Given the description of an element on the screen output the (x, y) to click on. 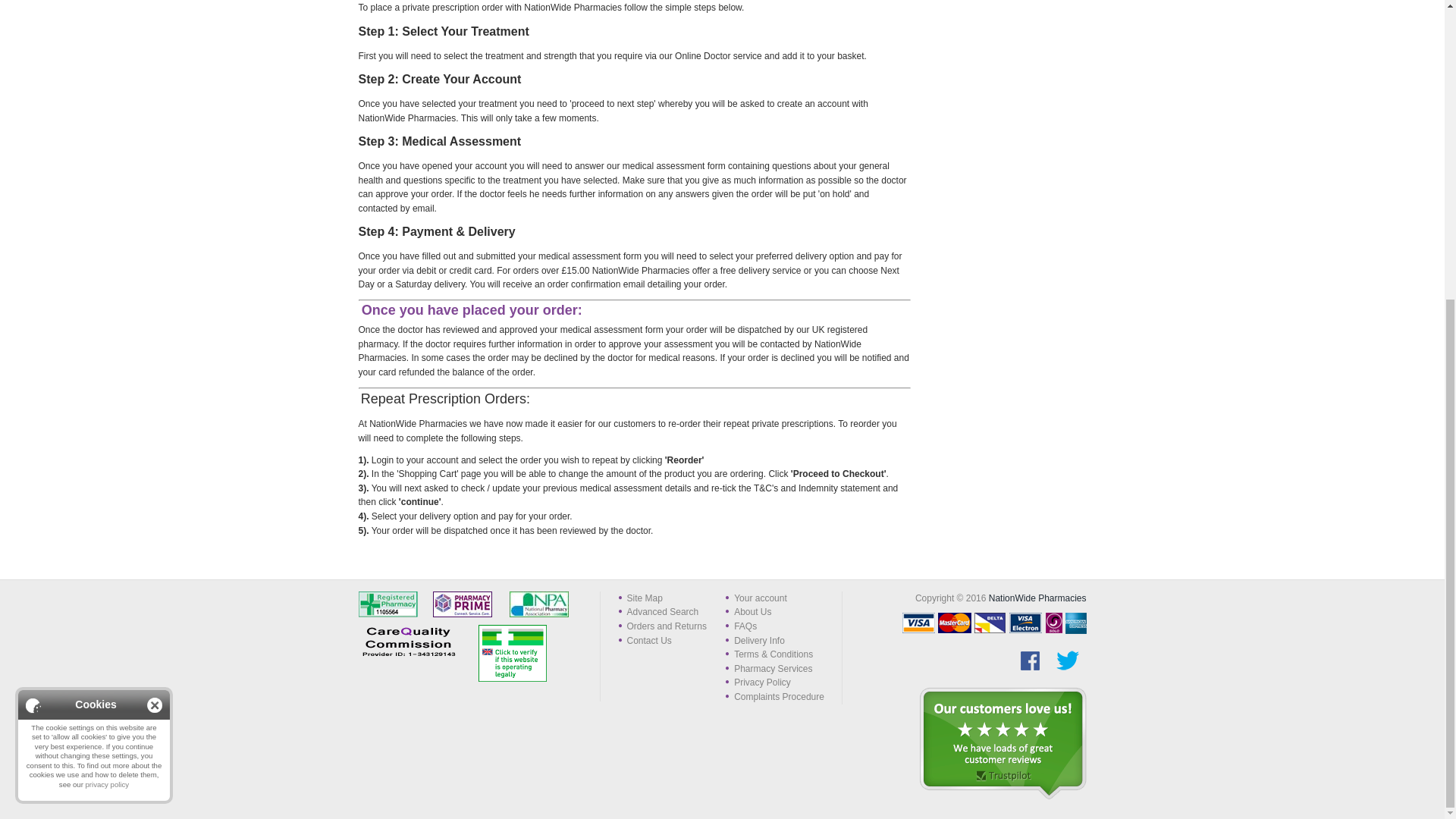
Follow us on Twitter (1067, 660)
GPhC Registration No. (395, 604)
Contact Us (648, 640)
Follow Us (1029, 660)
Site Map (644, 597)
Orders and Returns (666, 625)
Advanced Search (662, 611)
Care Quality Commission (415, 641)
